Given the description of an element on the screen output the (x, y) to click on. 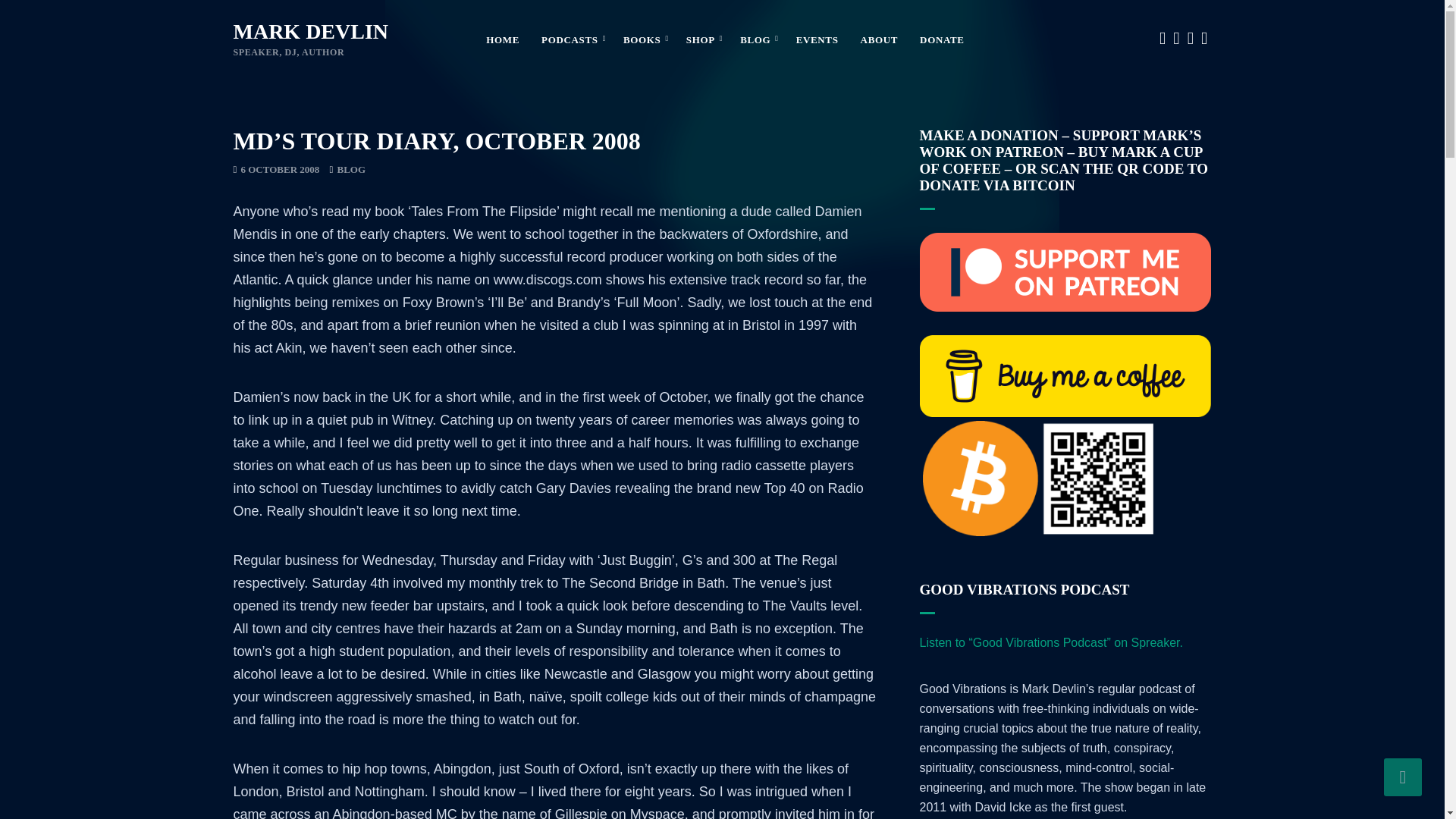
MARK DEVLIN (310, 31)
HOME (502, 40)
